Given the description of an element on the screen output the (x, y) to click on. 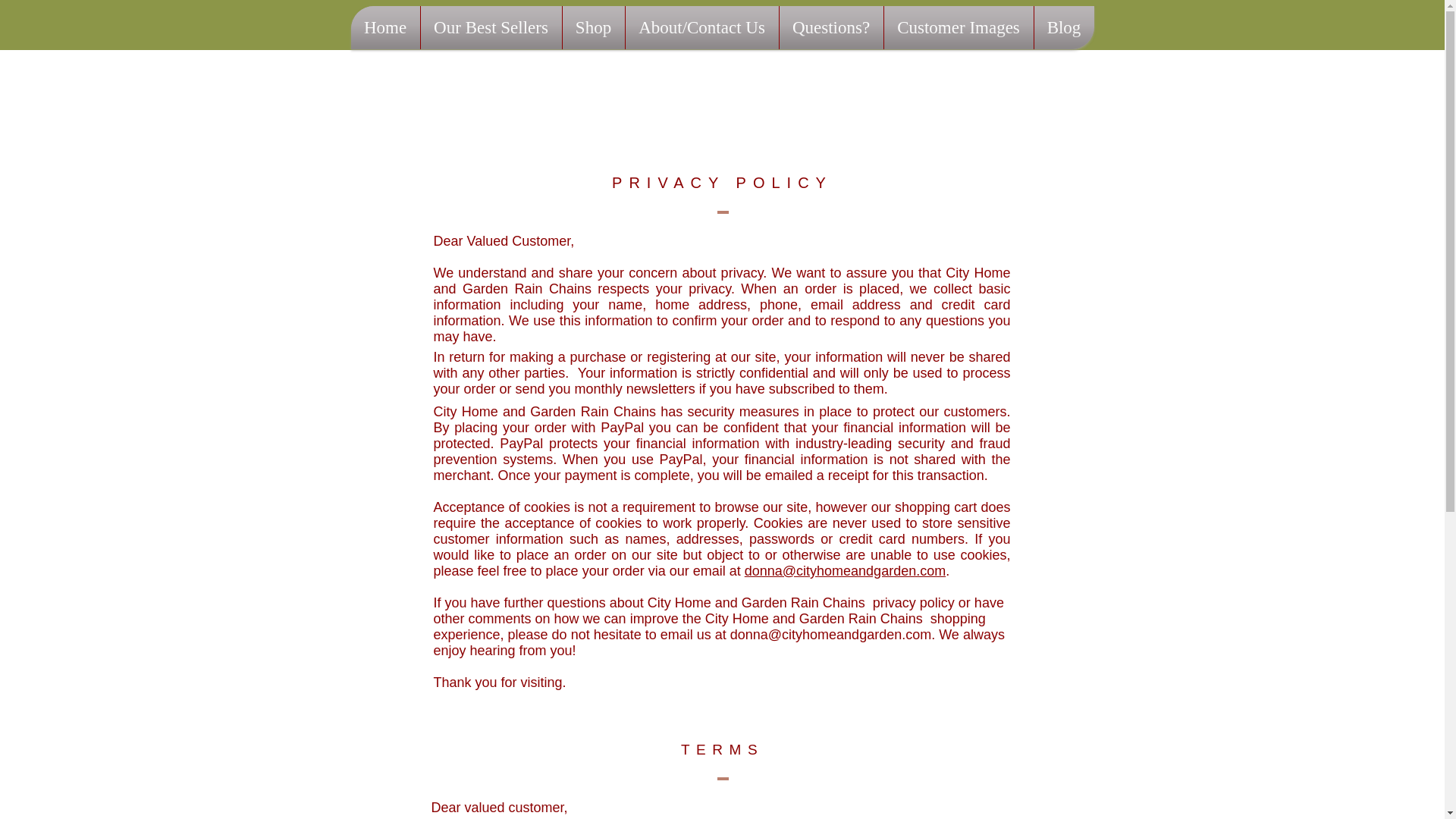
Shop (593, 27)
Blog (1063, 27)
Customer Images (958, 27)
Our Best Sellers (490, 27)
Questions? (830, 27)
Home (384, 27)
